Given the description of an element on the screen output the (x, y) to click on. 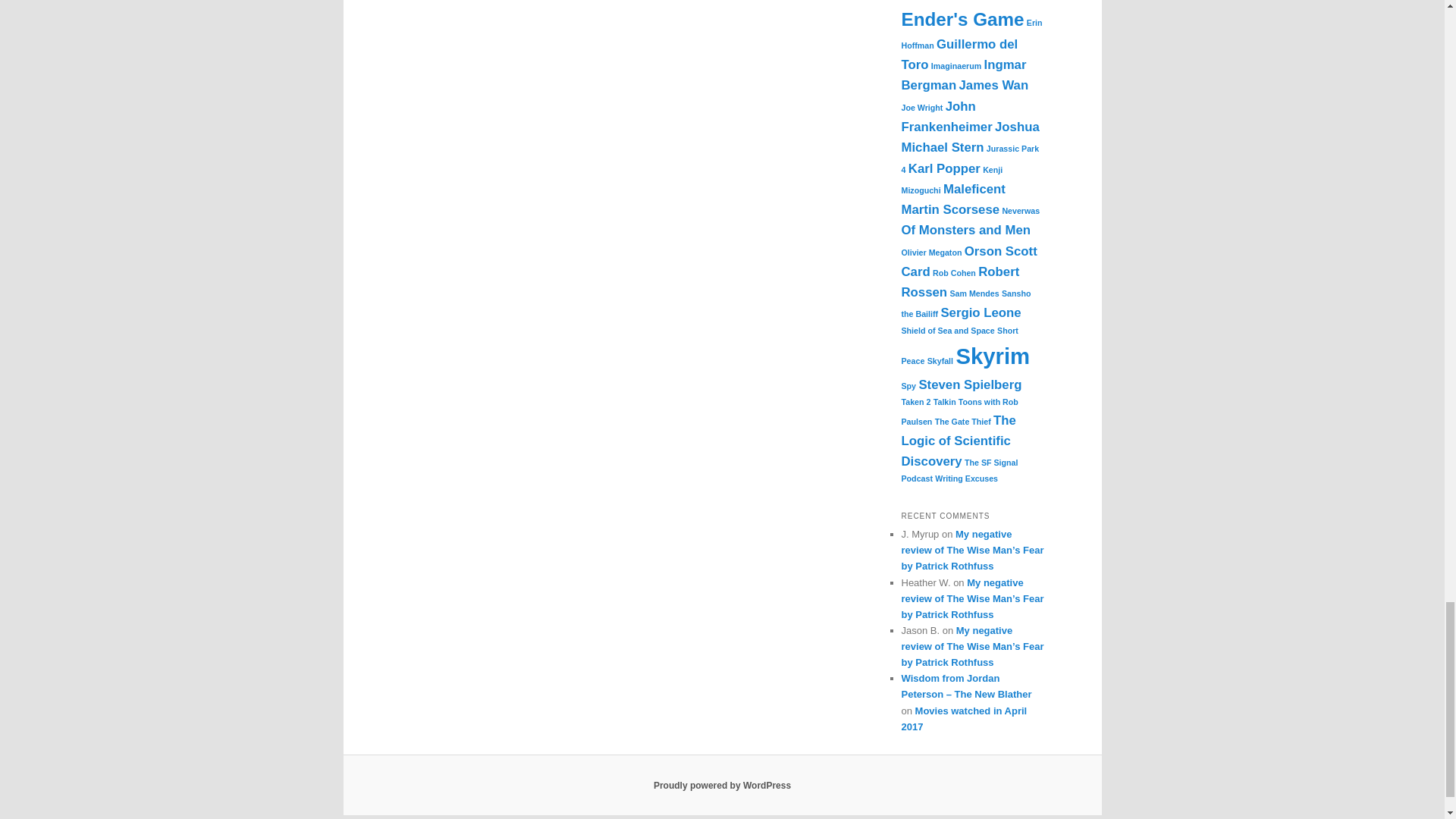
Semantic Personal Publishing Platform (721, 785)
